Given the description of an element on the screen output the (x, y) to click on. 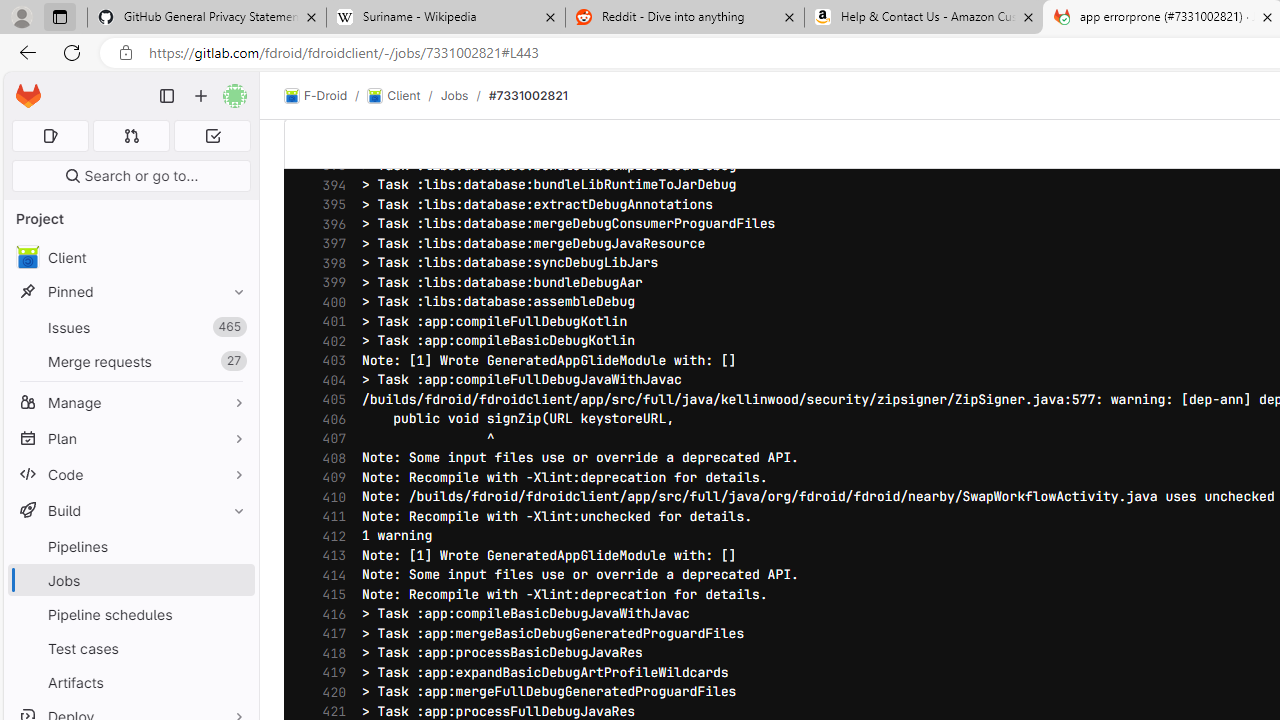
410 (329, 497)
F-Droid (316, 96)
414 (329, 575)
Primary navigation sidebar (167, 96)
409 (329, 478)
417 (329, 633)
BuildPipelinesJobsPipeline schedulesTest casesArtifacts (130, 596)
avatar Client (130, 257)
Homepage (27, 96)
388 (329, 68)
Pin Test cases (234, 647)
Jobs (130, 579)
#7331002821 (527, 95)
Test cases (130, 648)
Artifacts (130, 682)
